Given the description of an element on the screen output the (x, y) to click on. 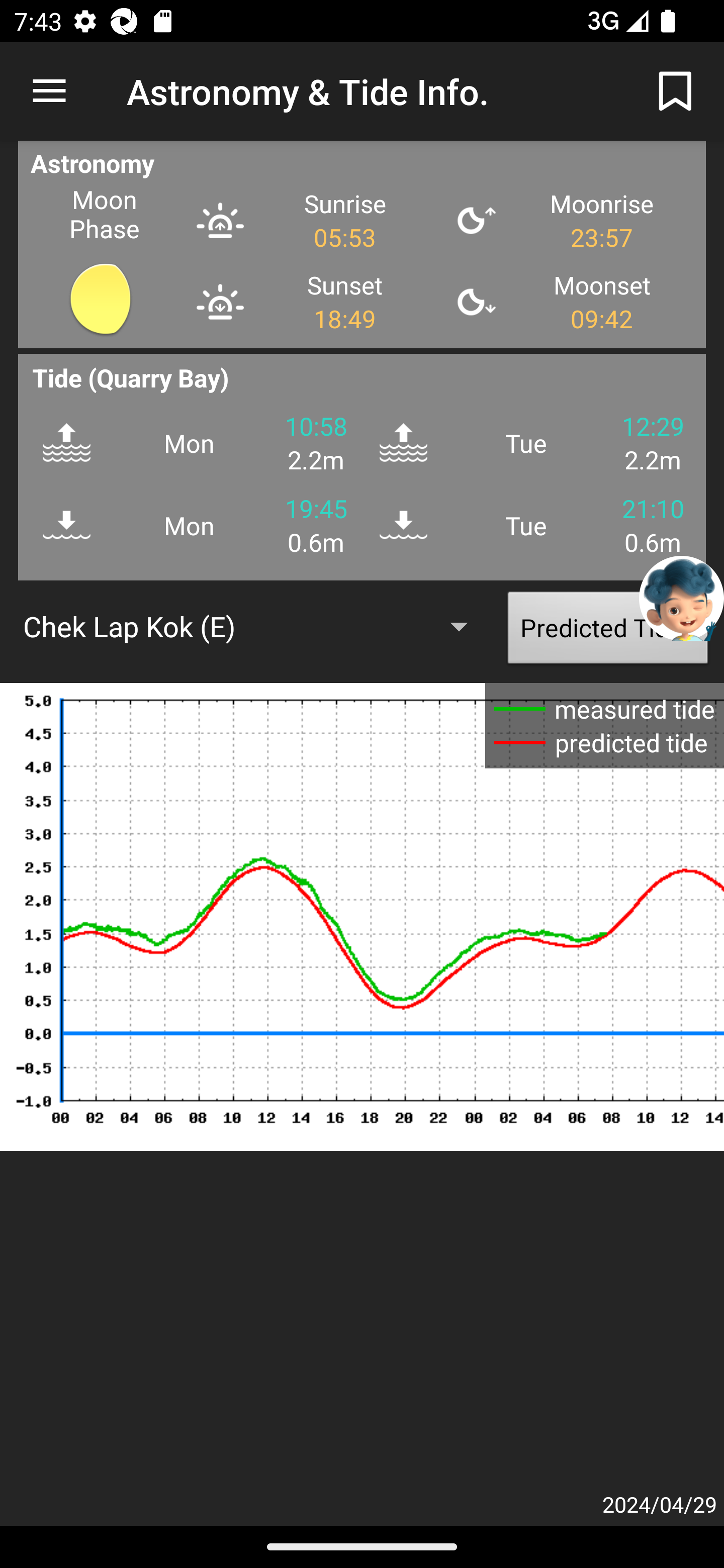
Navigate up (49, 91)
Bookmark not added (674, 90)
Chatbot (681, 598)
Predicted Tides (608, 631)
Chek Lap Kok (E) (254, 626)
